Given the description of an element on the screen output the (x, y) to click on. 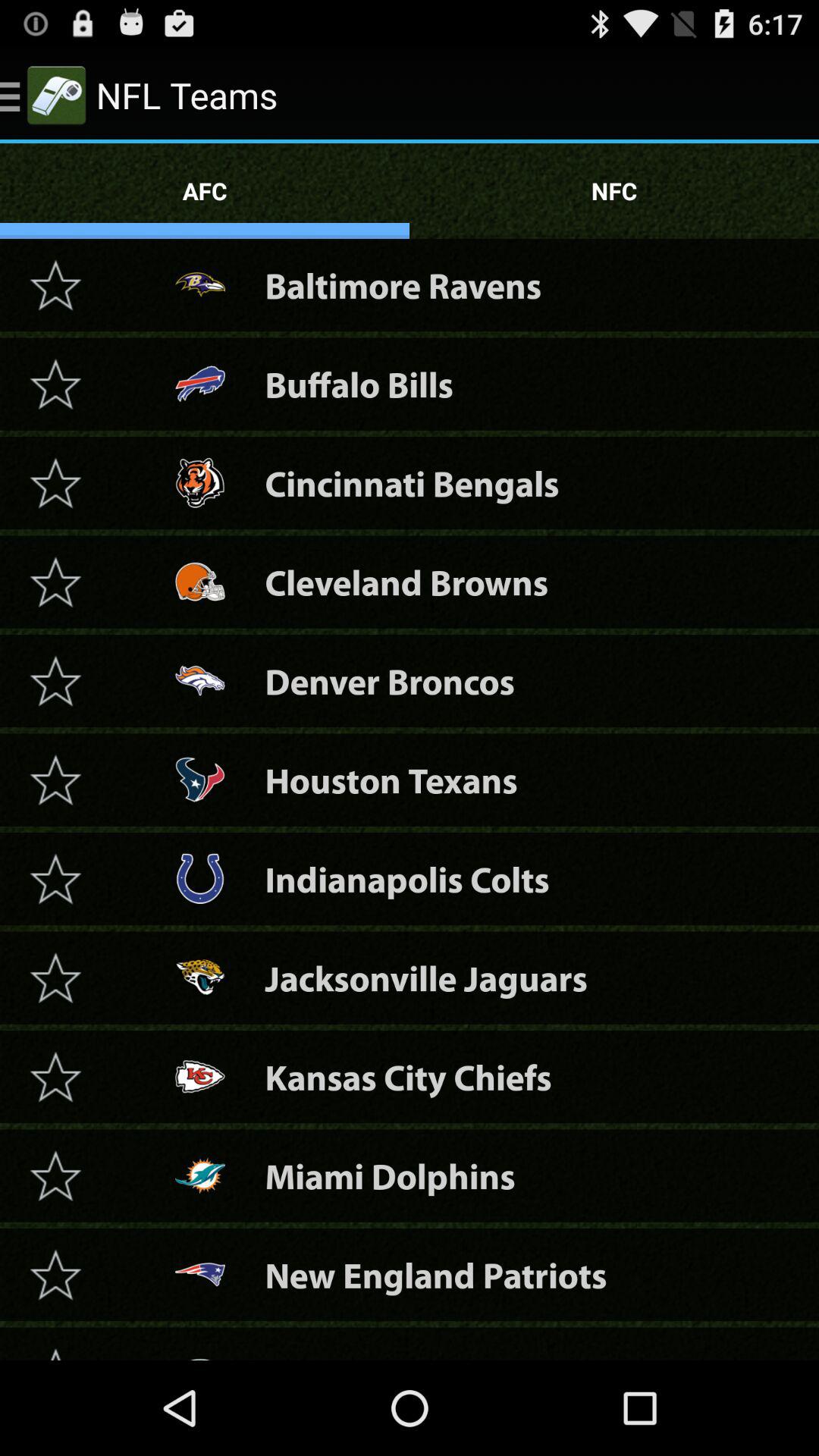
add to favorits (55, 1175)
